Given the description of an element on the screen output the (x, y) to click on. 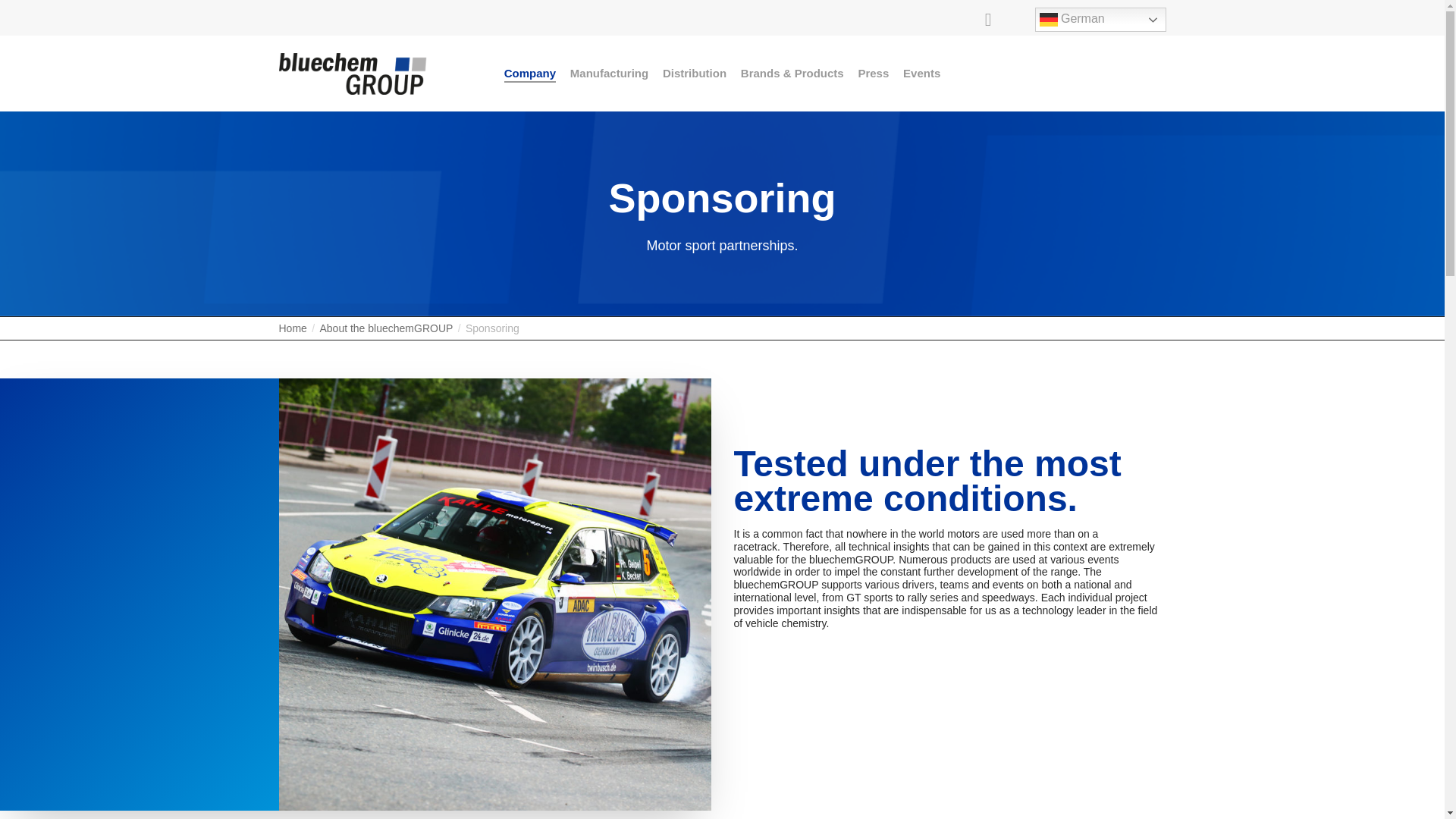
Distribution (694, 73)
Manufacturing (609, 73)
German (1099, 19)
